Given the description of an element on the screen output the (x, y) to click on. 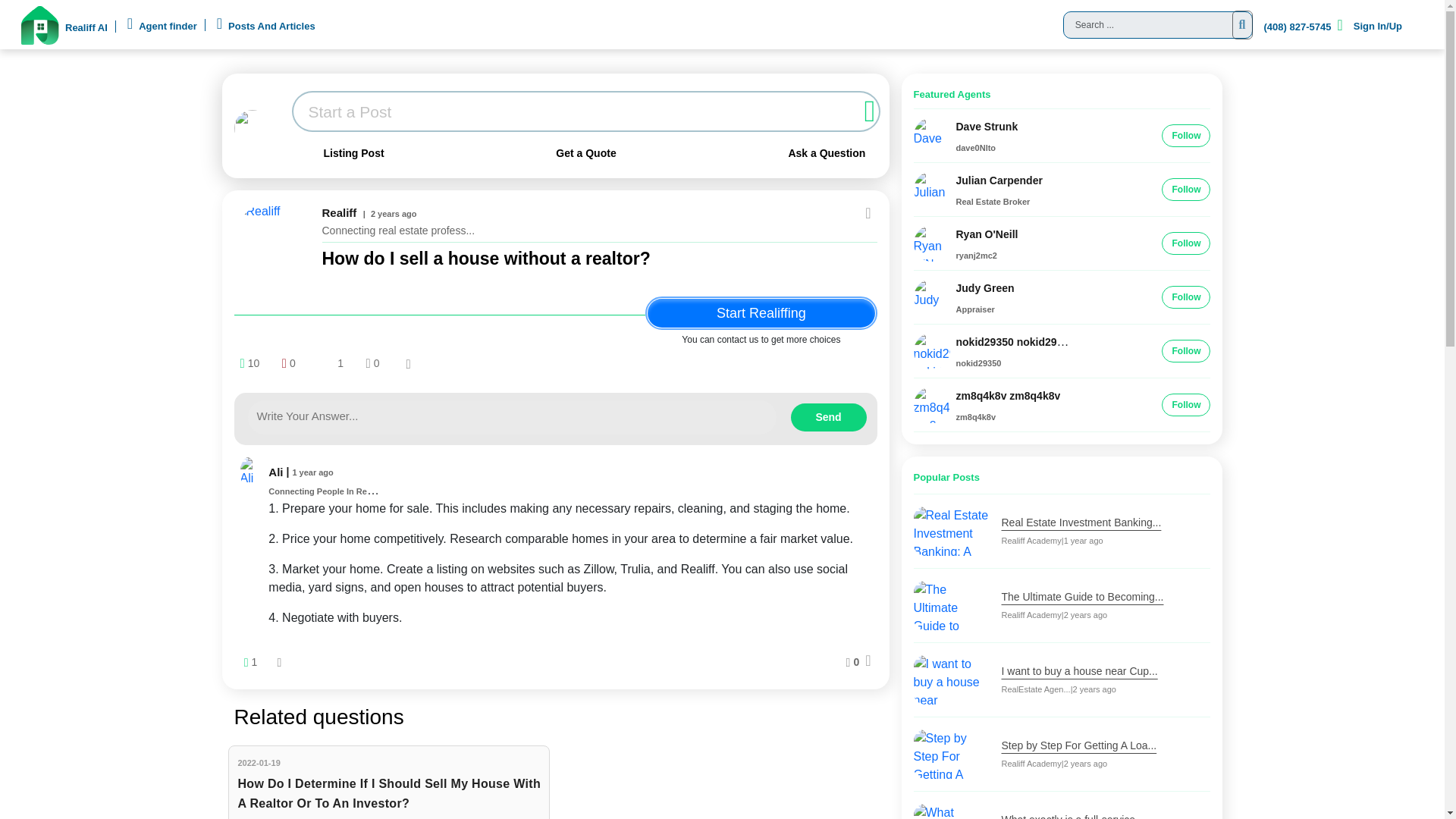
Bookmark (851, 662)
Realiff (270, 240)
Upvote (247, 662)
10 (247, 363)
Julian Carpender (998, 180)
1 (328, 363)
Realiff AI Main page (68, 27)
0 (851, 662)
Send (828, 417)
Ali (274, 472)
Agent finder (160, 27)
0 (370, 363)
Start Realiffing (761, 312)
Call Realiff (1305, 25)
Share on social media (407, 362)
